Given the description of an element on the screen output the (x, y) to click on. 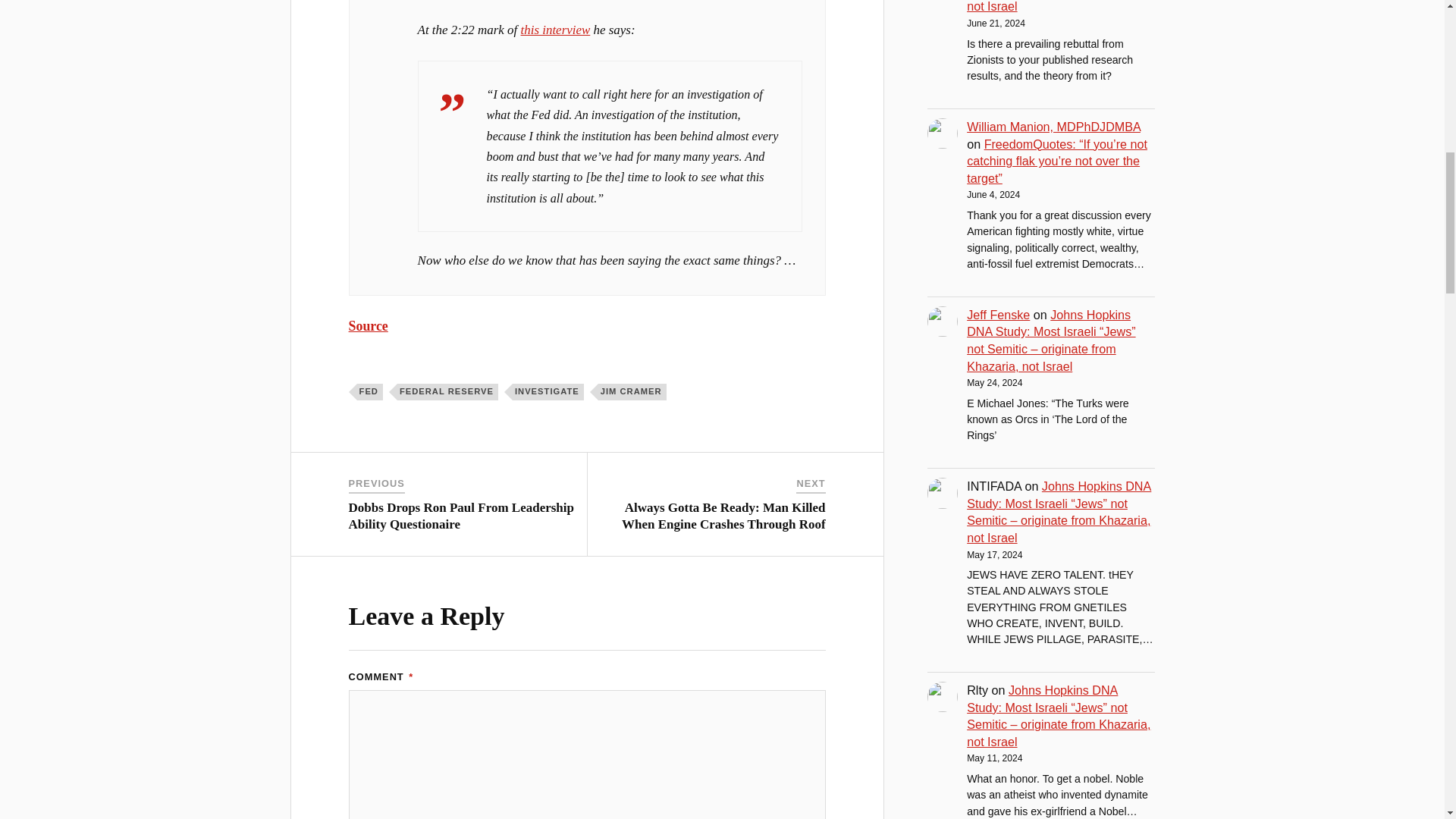
Source (368, 325)
this interview (556, 29)
Dobbs Drops Ron Paul From Leadership Ability Questionaire (461, 515)
INVESTIGATE (547, 392)
FEDERAL RESERVE (447, 392)
William Manion, MDPhDJDMBA (1053, 126)
JIM CRAMER (632, 392)
FED (369, 392)
Jeff Fenske (997, 314)
